Given the description of an element on the screen output the (x, y) to click on. 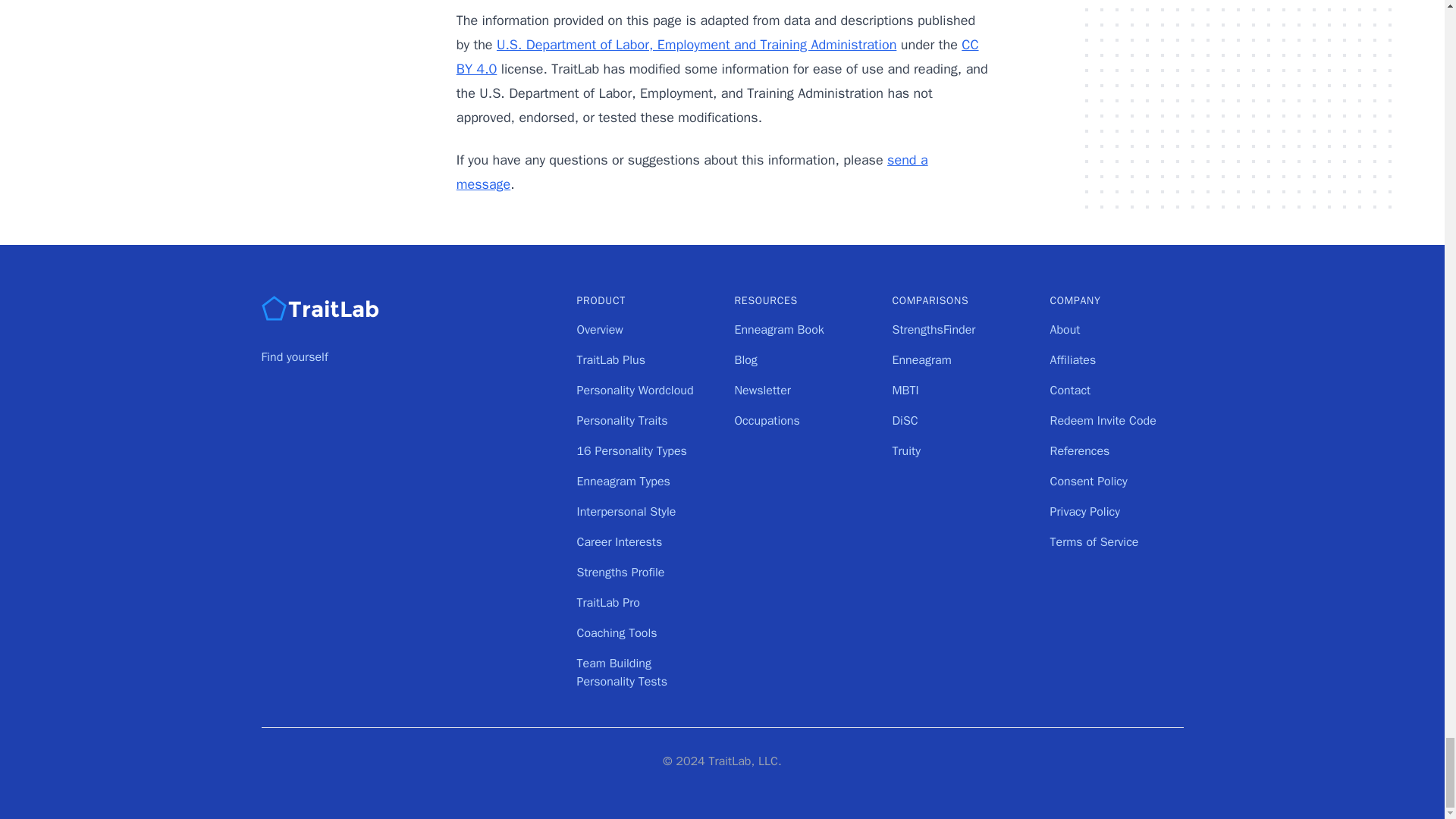
Personality Wordcloud (634, 390)
TraitLab Plus (610, 359)
16 Personality Types (630, 450)
Career Interests (619, 541)
Enneagram Types (622, 481)
Overview (599, 329)
CC BY 4.0 (717, 56)
Interpersonal Style (625, 511)
send a message (692, 171)
